Given the description of an element on the screen output the (x, y) to click on. 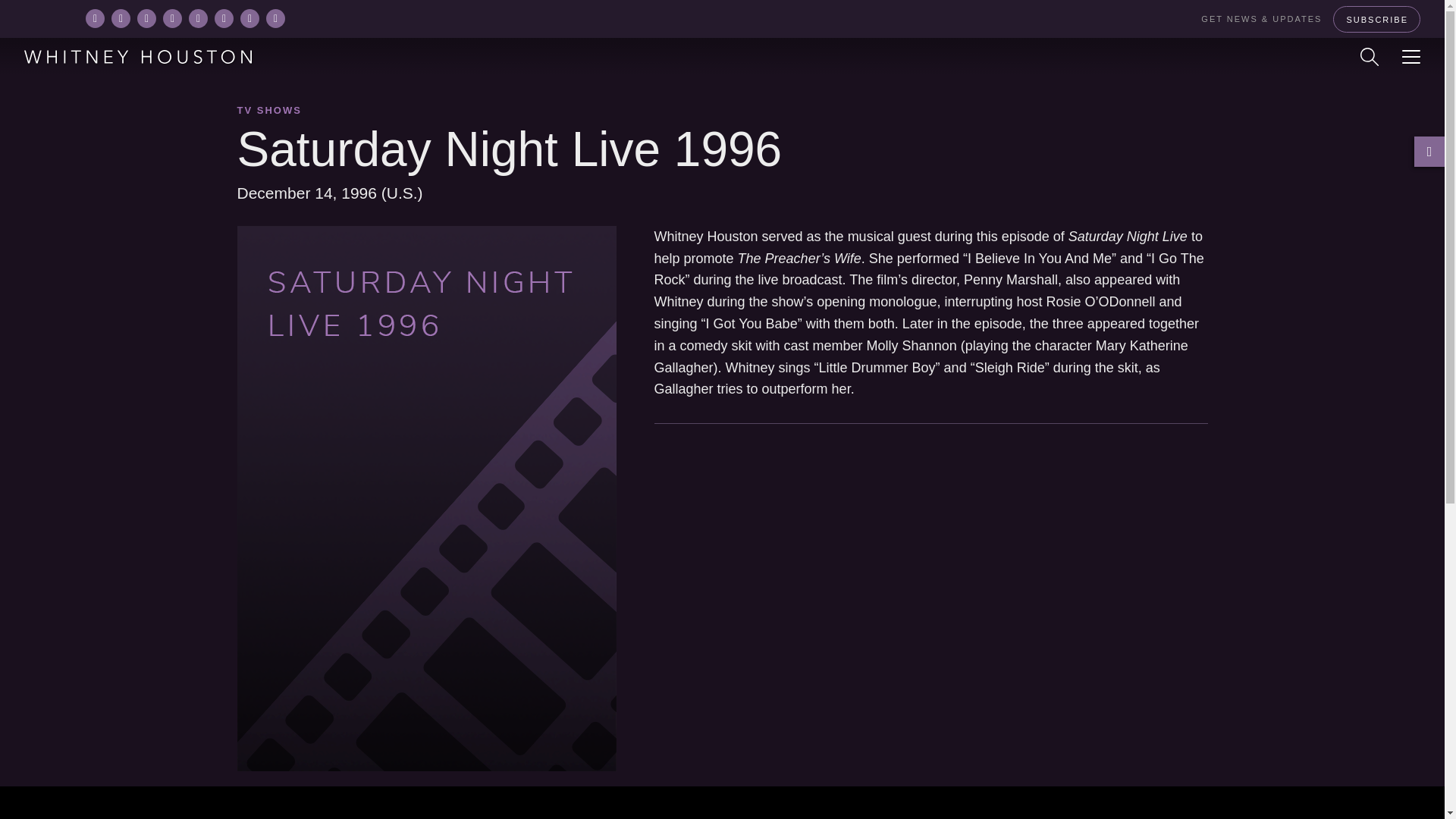
TikTok (223, 18)
Amazon (94, 18)
SUBSCRIBE (1377, 18)
YouTube (249, 18)
Shop (275, 18)
Facebook (145, 18)
TV SHOWS (268, 110)
Instagram (172, 18)
Apple Music (121, 18)
Spotify (198, 18)
